Given the description of an element on the screen output the (x, y) to click on. 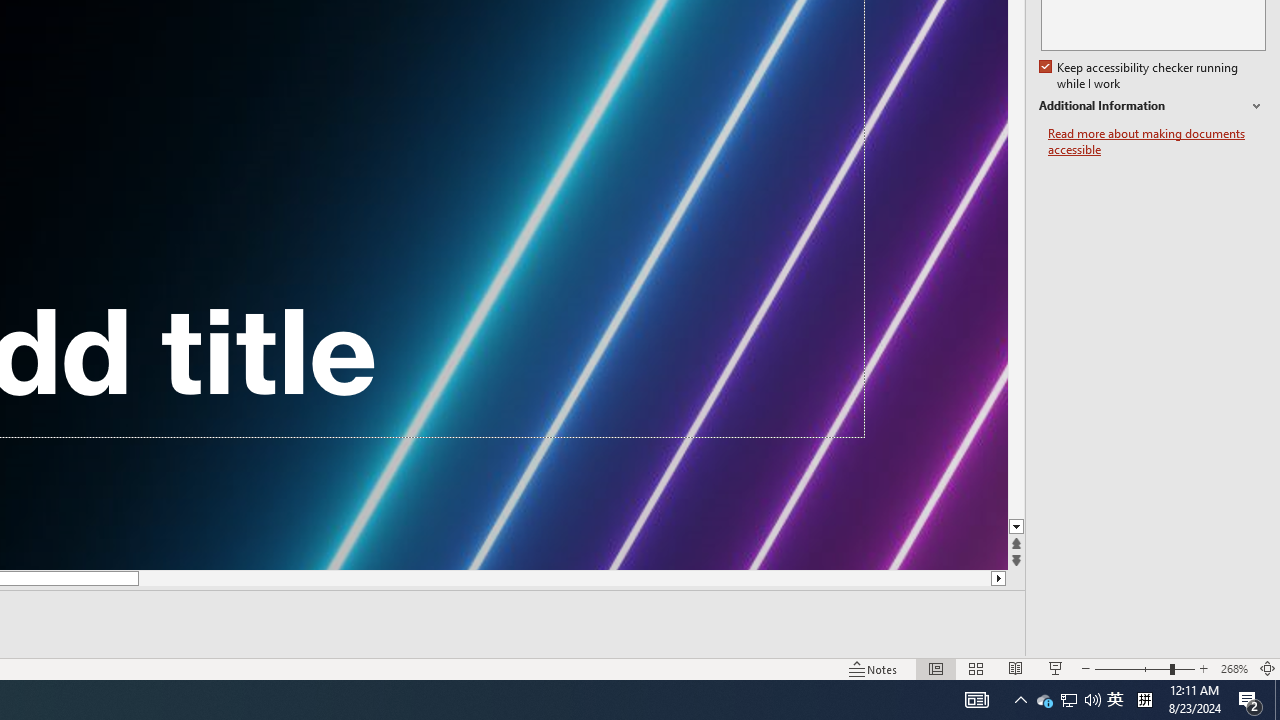
Zoom 268% (1234, 668)
